Given the description of an element on the screen output the (x, y) to click on. 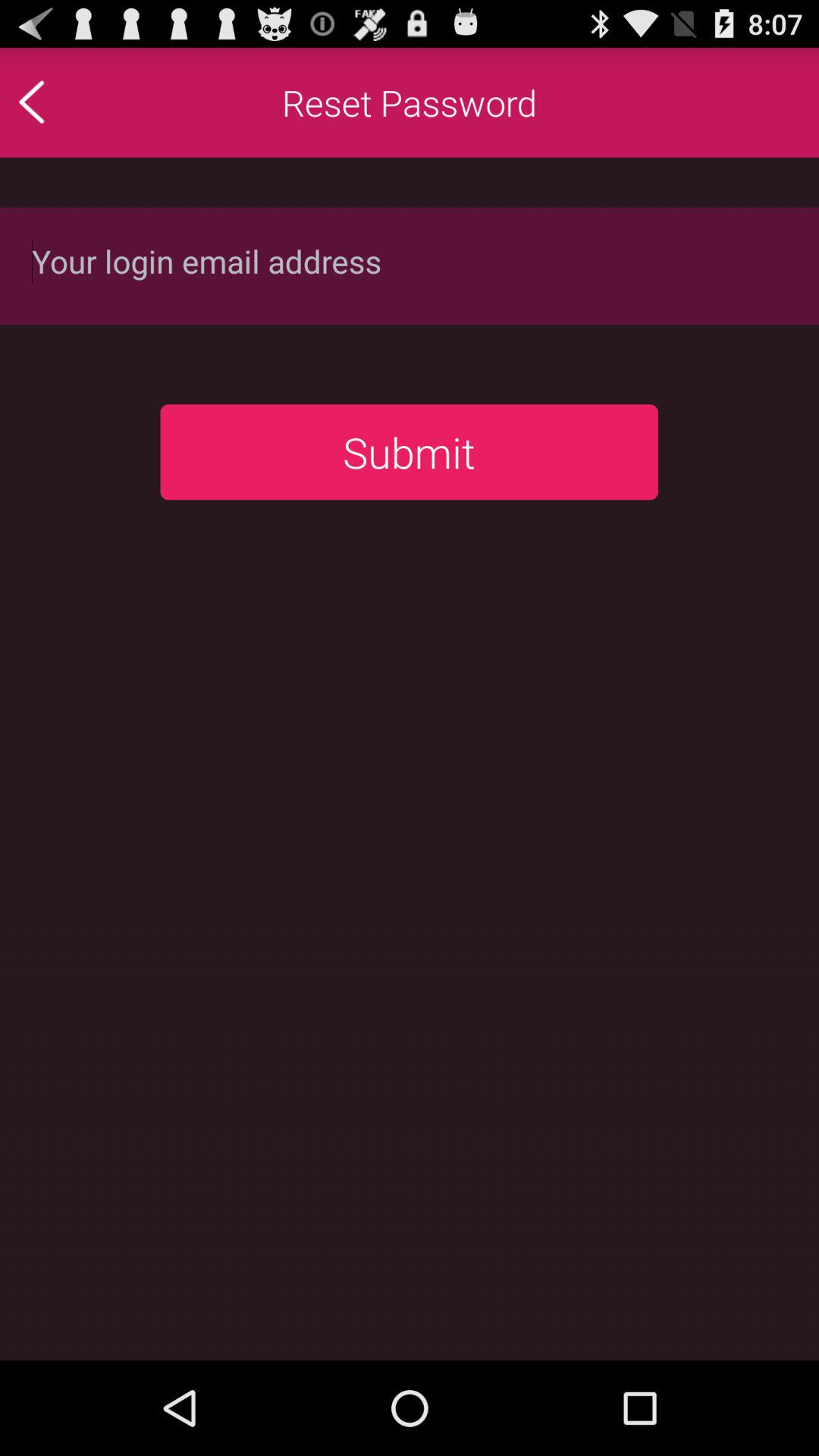
enter login email address (409, 264)
